Given the description of an element on the screen output the (x, y) to click on. 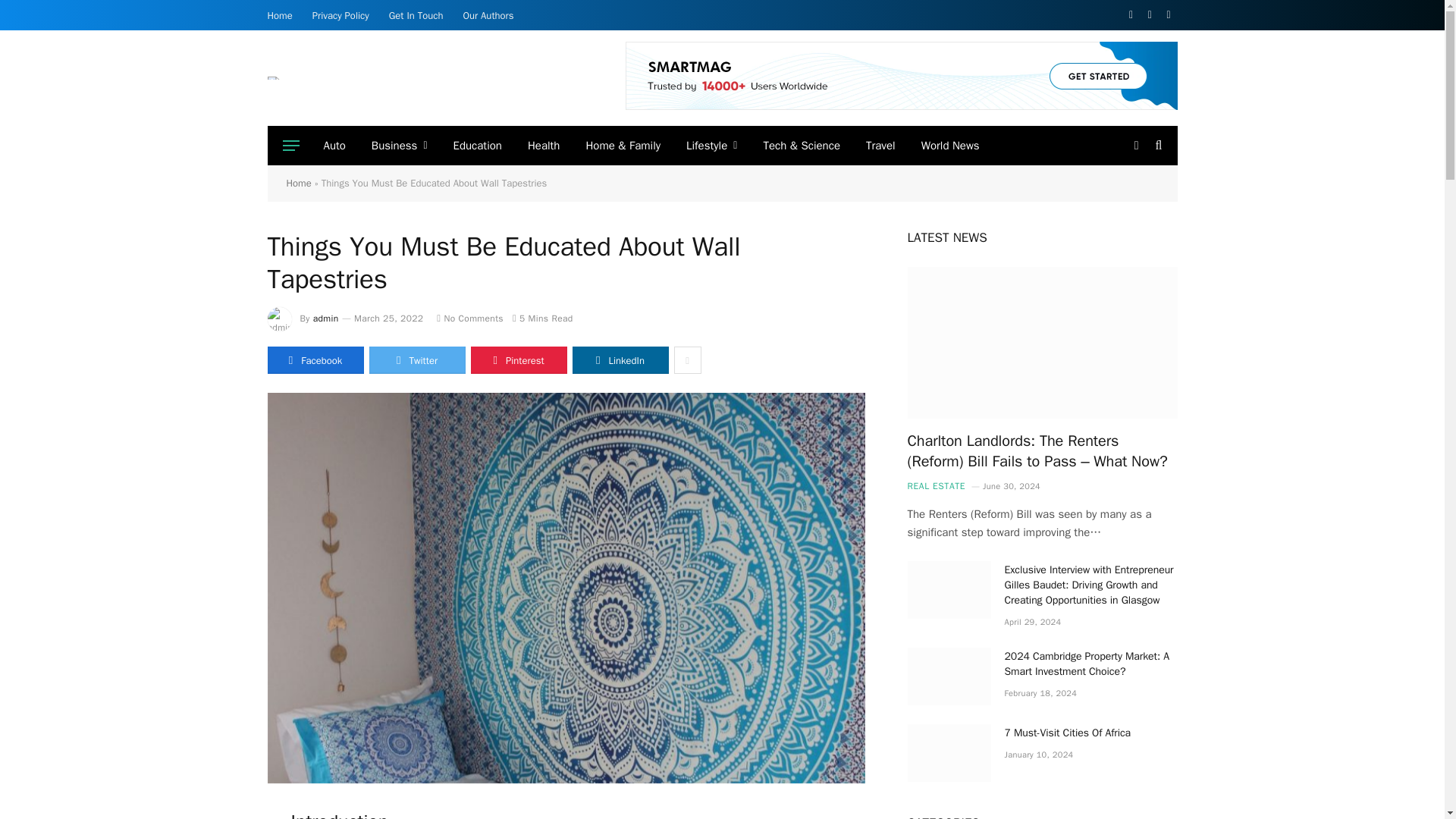
Switch to Dark Design - easier on eyes. (1135, 145)
Our Authors (487, 15)
Auto (334, 145)
Home (279, 15)
Business (399, 145)
Privacy Policy (340, 15)
Get In Touch (415, 15)
